Given the description of an element on the screen output the (x, y) to click on. 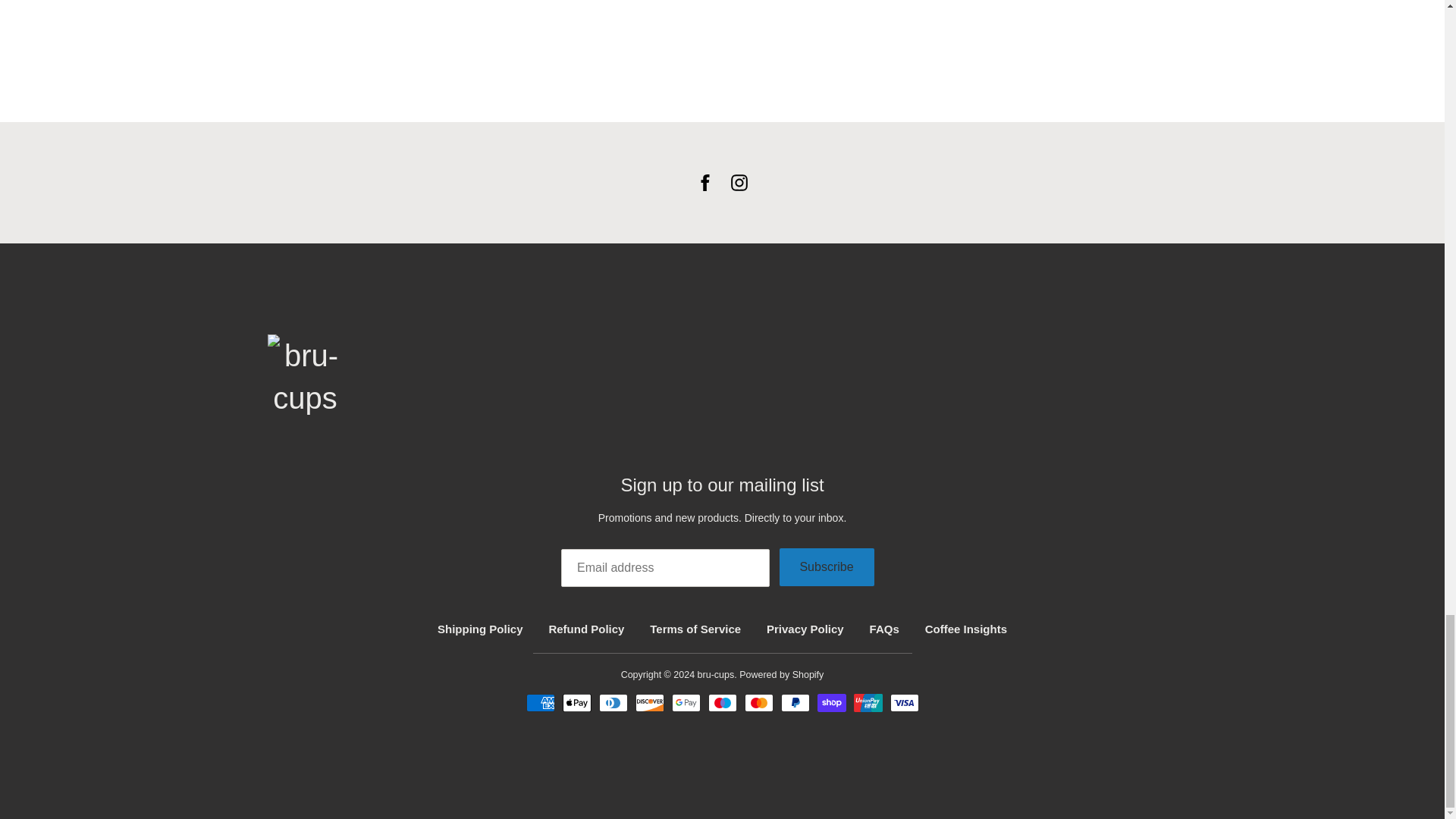
American Express (539, 702)
Mastercard (758, 702)
Discover (648, 702)
Union Pay (867, 702)
Refund Policy (586, 628)
Subscribe (826, 566)
FAQs (884, 628)
Visa (903, 702)
Shop Pay (830, 702)
Diners Club (612, 702)
Coffee Insights (965, 628)
PayPal (794, 702)
Shipping Policy (480, 628)
Terms of Service (695, 628)
Maestro (721, 702)
